Given the description of an element on the screen output the (x, y) to click on. 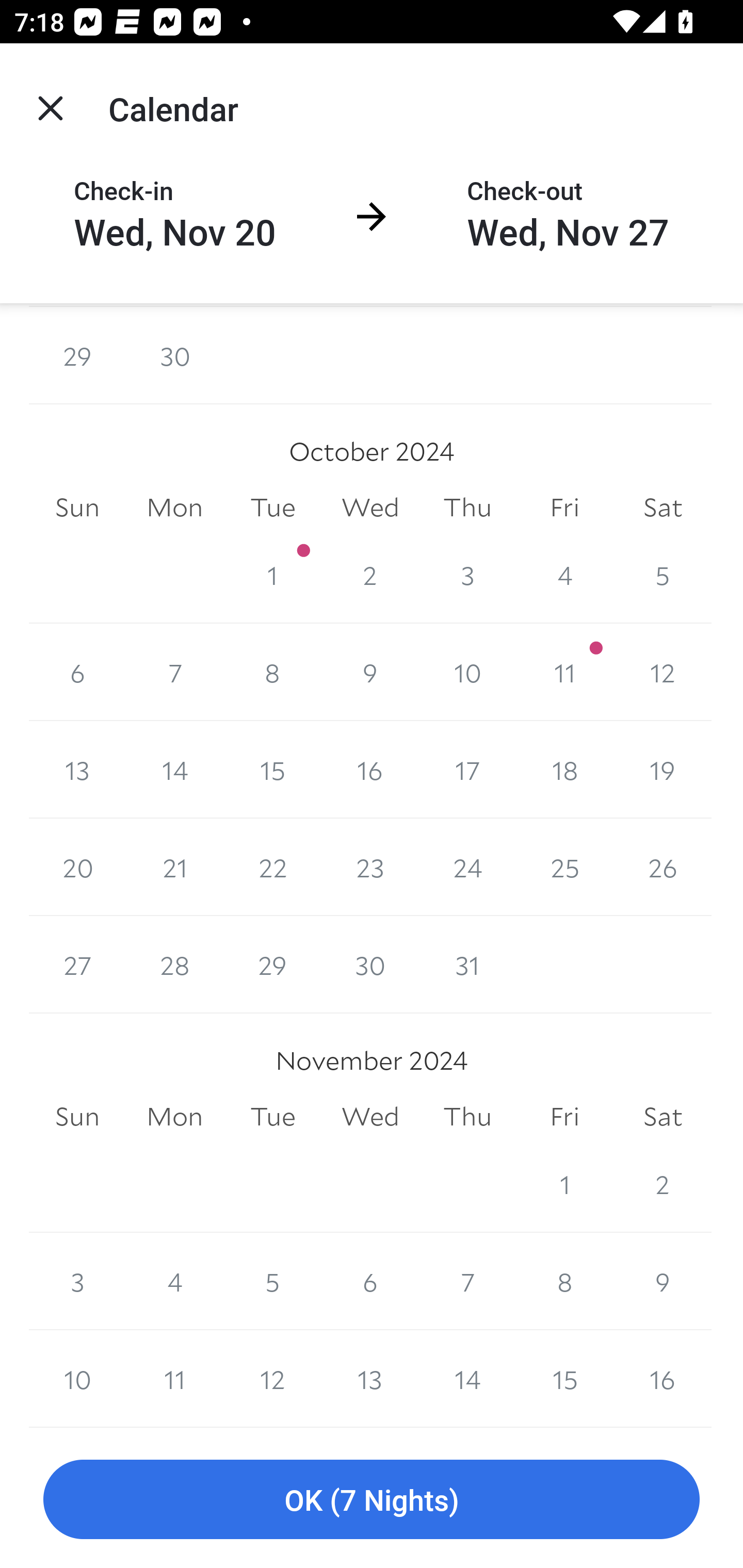
29 29 September 2024 (77, 355)
30 30 September 2024 (174, 355)
1 1 September 2024 (272, 355)
2 2 September 2024 (370, 355)
3 3 September 2024 (467, 355)
4 4 September 2024 (564, 355)
5 5 September 2024 (662, 355)
Sun (77, 507)
Mon (174, 507)
Tue (272, 507)
Wed (370, 507)
Thu (467, 507)
Fri (564, 507)
Sat (662, 507)
1 1 October 2024 (272, 575)
2 2 October 2024 (370, 575)
3 3 October 2024 (467, 575)
4 4 October 2024 (564, 575)
5 5 October 2024 (662, 575)
6 6 October 2024 (77, 672)
7 7 October 2024 (174, 672)
8 8 October 2024 (272, 672)
9 9 October 2024 (370, 672)
10 10 October 2024 (467, 672)
11 11 October 2024 (564, 672)
12 12 October 2024 (662, 672)
13 13 October 2024 (77, 769)
14 14 October 2024 (174, 769)
15 15 October 2024 (272, 769)
16 16 October 2024 (370, 769)
17 17 October 2024 (467, 769)
18 18 October 2024 (564, 769)
19 19 October 2024 (662, 769)
20 20 October 2024 (77, 866)
21 21 October 2024 (174, 866)
22 22 October 2024 (272, 866)
23 23 October 2024 (370, 866)
24 24 October 2024 (467, 866)
25 25 October 2024 (564, 866)
26 26 October 2024 (662, 866)
27 27 October 2024 (77, 963)
28 28 October 2024 (174, 963)
29 29 October 2024 (272, 963)
30 30 October 2024 (370, 963)
31 31 October 2024 (467, 963)
Sun (77, 1116)
Mon (174, 1116)
Tue (272, 1116)
Wed (370, 1116)
